Given the description of an element on the screen output the (x, y) to click on. 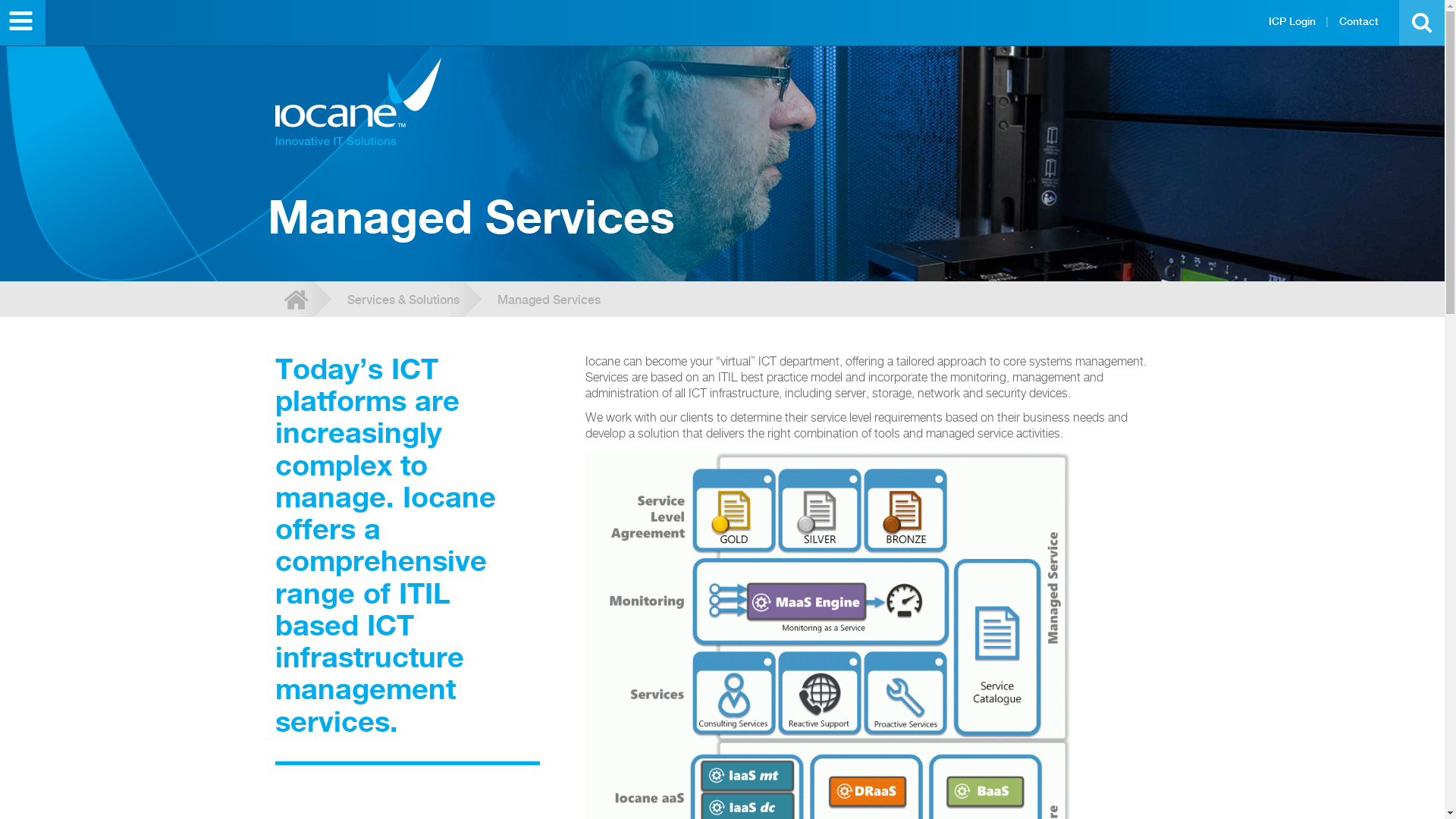
Managed Services Element type: text (548, 300)
ICP Login Element type: text (1292, 20)
Contact Element type: text (1358, 20)
Services & Solutions Element type: text (403, 300)
